Given the description of an element on the screen output the (x, y) to click on. 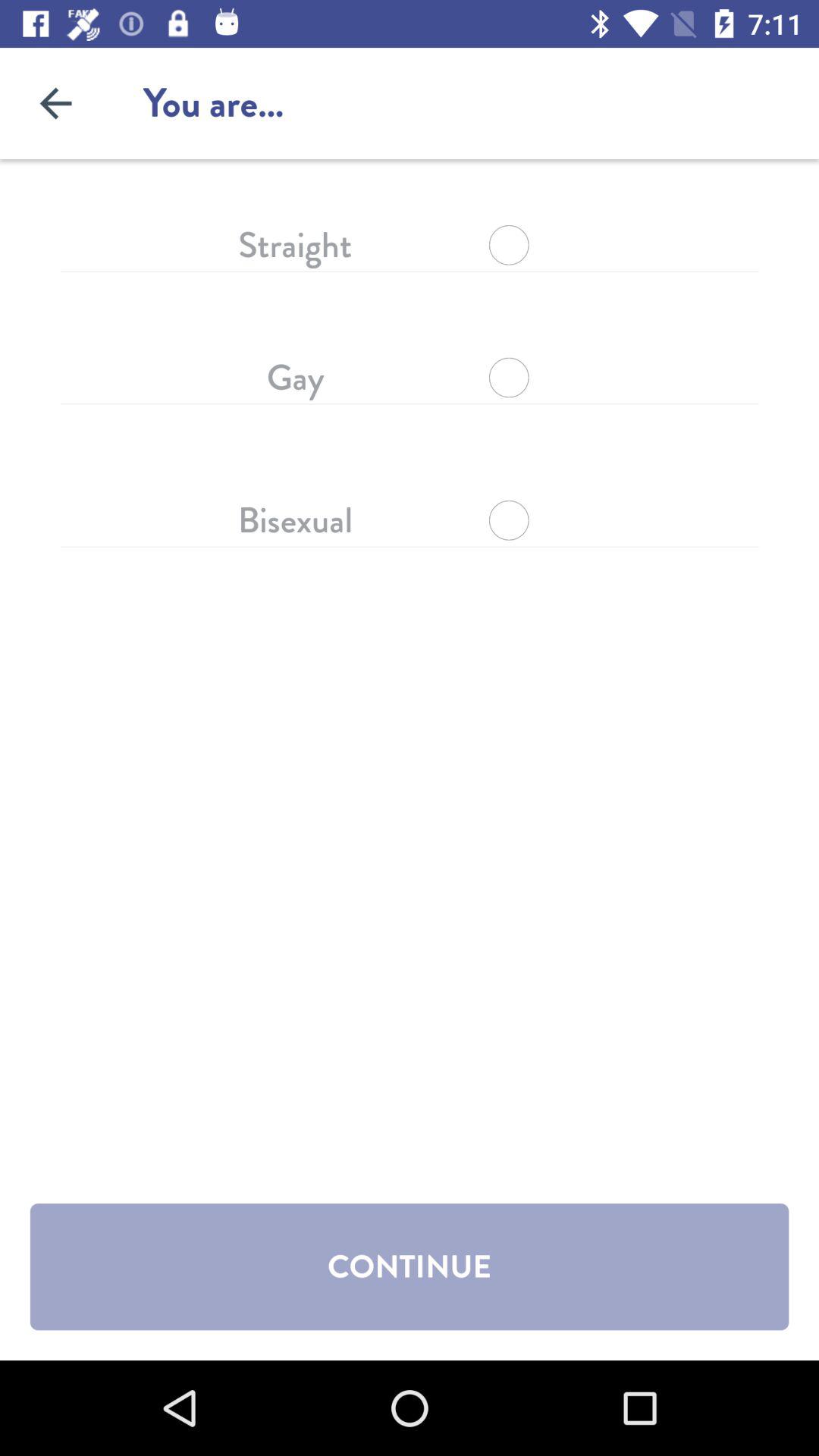
click the icon above the straight item (55, 103)
